Given the description of an element on the screen output the (x, y) to click on. 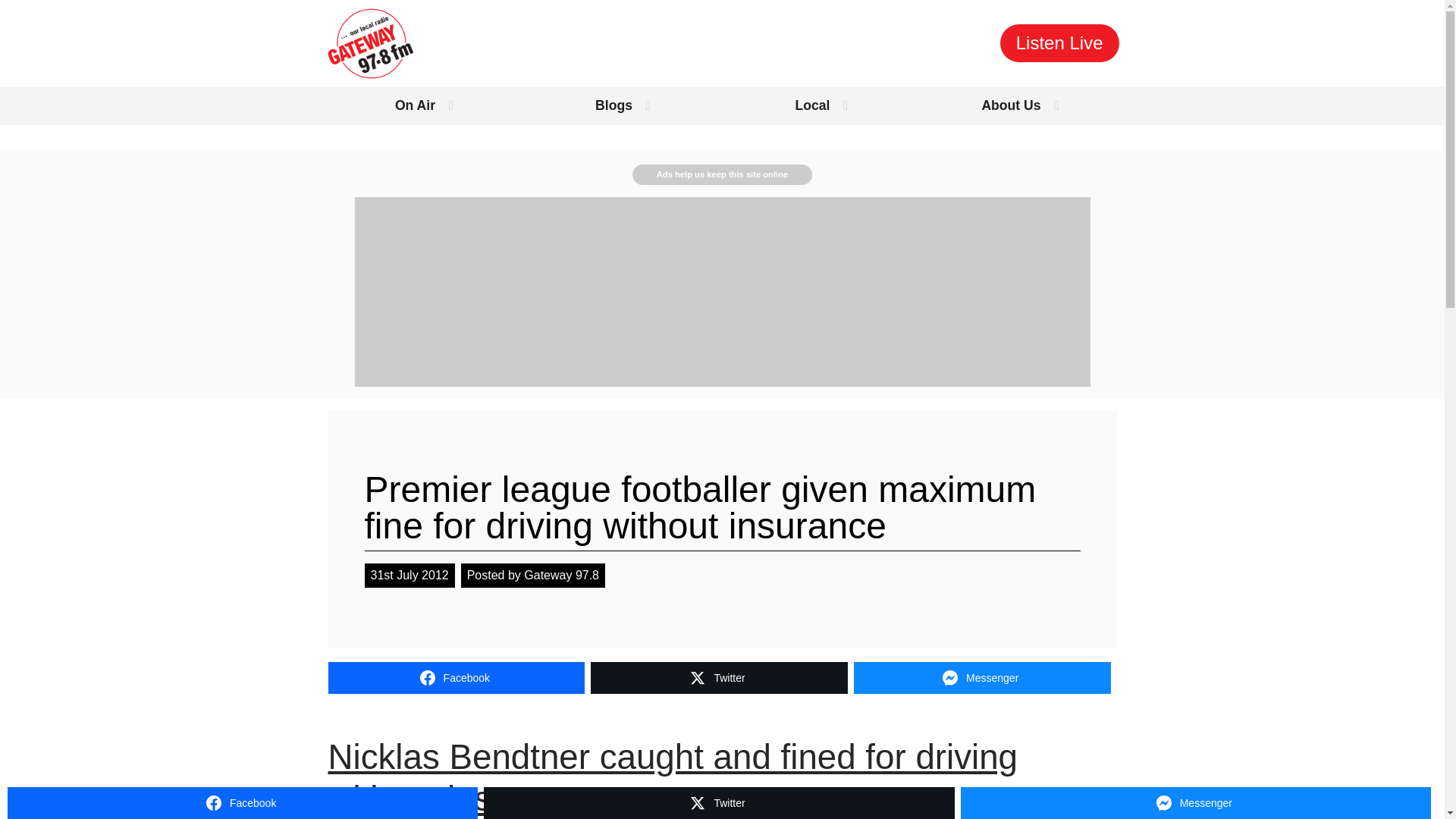
Share on Messenger (981, 677)
Facebook (456, 677)
On Air (423, 105)
Share on Facebook (456, 677)
Messenger (981, 677)
Share on Twitter (719, 677)
About Us (1019, 105)
See all blog posts (622, 105)
Find out more about Gateway 97.8 (1019, 105)
Local (821, 105)
Blogs (622, 105)
Twitter (719, 677)
Listen Live (1058, 43)
